Given the description of an element on the screen output the (x, y) to click on. 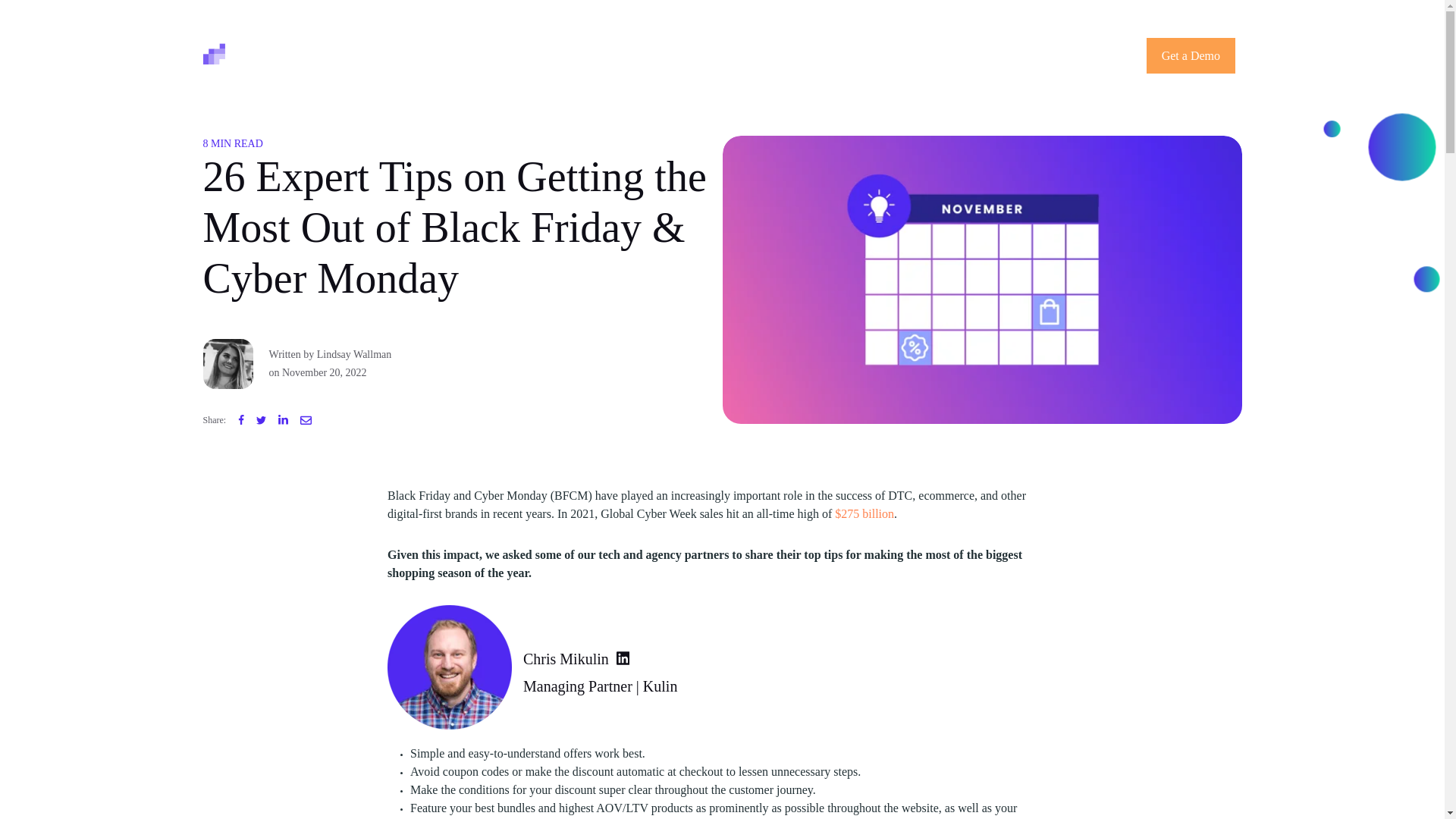
Rockerbox Marketing Measurement Platform (291, 52)
Company (540, 55)
Product (469, 55)
